Given the description of an element on the screen output the (x, y) to click on. 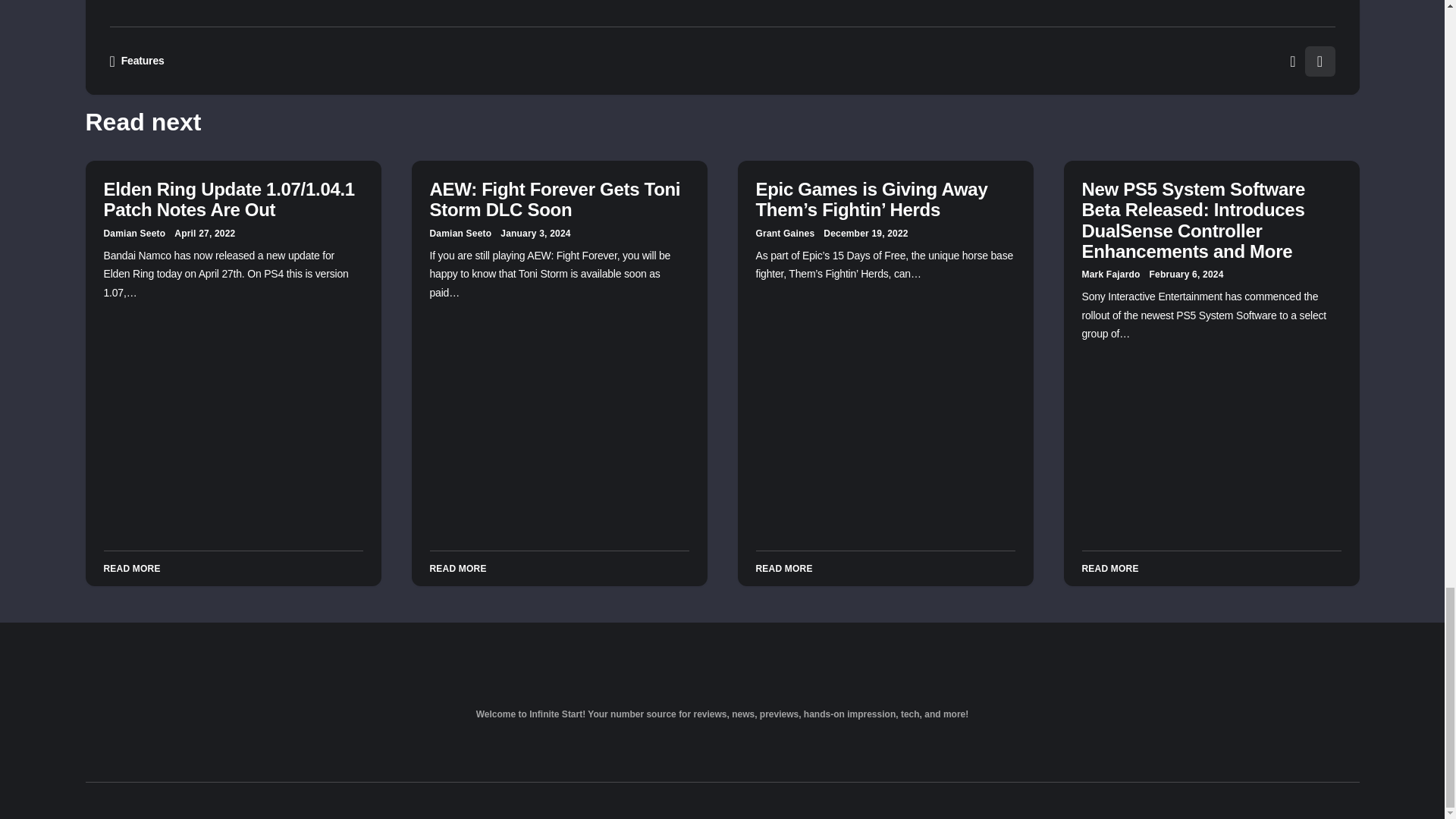
View all posts by Damian Seeto (460, 233)
Post Comment (868, 9)
View all posts by Grant Gaines (784, 233)
View all posts by Mark Fajardo (1110, 274)
View all posts by Damian Seeto (134, 233)
